Given the description of an element on the screen output the (x, y) to click on. 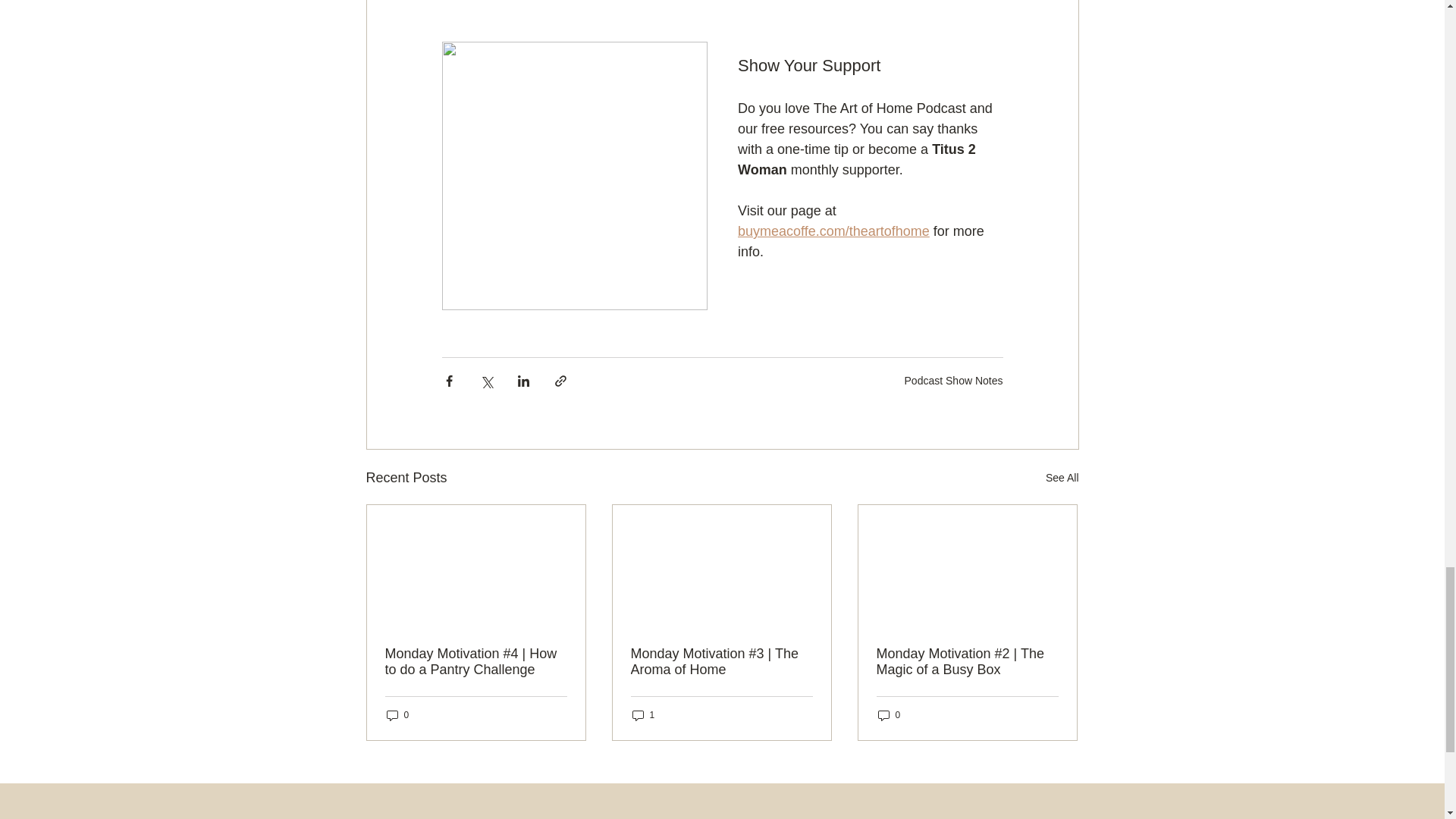
Podcast Show Notes (953, 380)
See All (1061, 477)
